Given the description of an element on the screen output the (x, y) to click on. 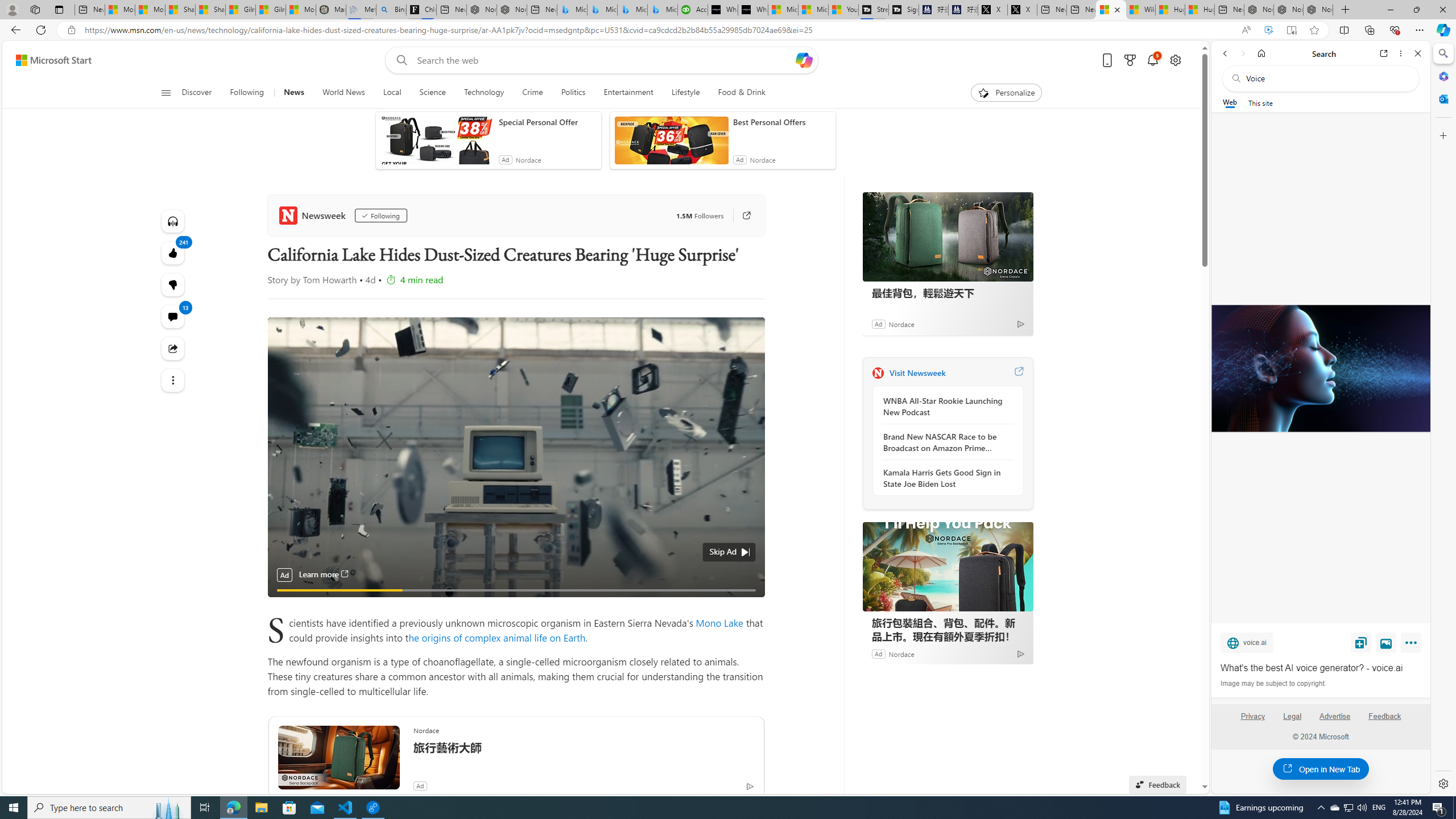
Notifications (1152, 60)
News (293, 92)
Mono Lake (719, 621)
Crime (532, 92)
Chloe Sorvino (421, 9)
Best Personal Offers (781, 121)
Nordace - #1 Japanese Best-Seller - Siena Smart Backpack (511, 9)
Web search (398, 60)
What's the best AI voice generator? - voice.ai (753, 9)
Microsoft rewards (1129, 60)
Image may be subject to copyright. (1273, 682)
Open settings (1175, 60)
See more (172, 380)
